Given the description of an element on the screen output the (x, y) to click on. 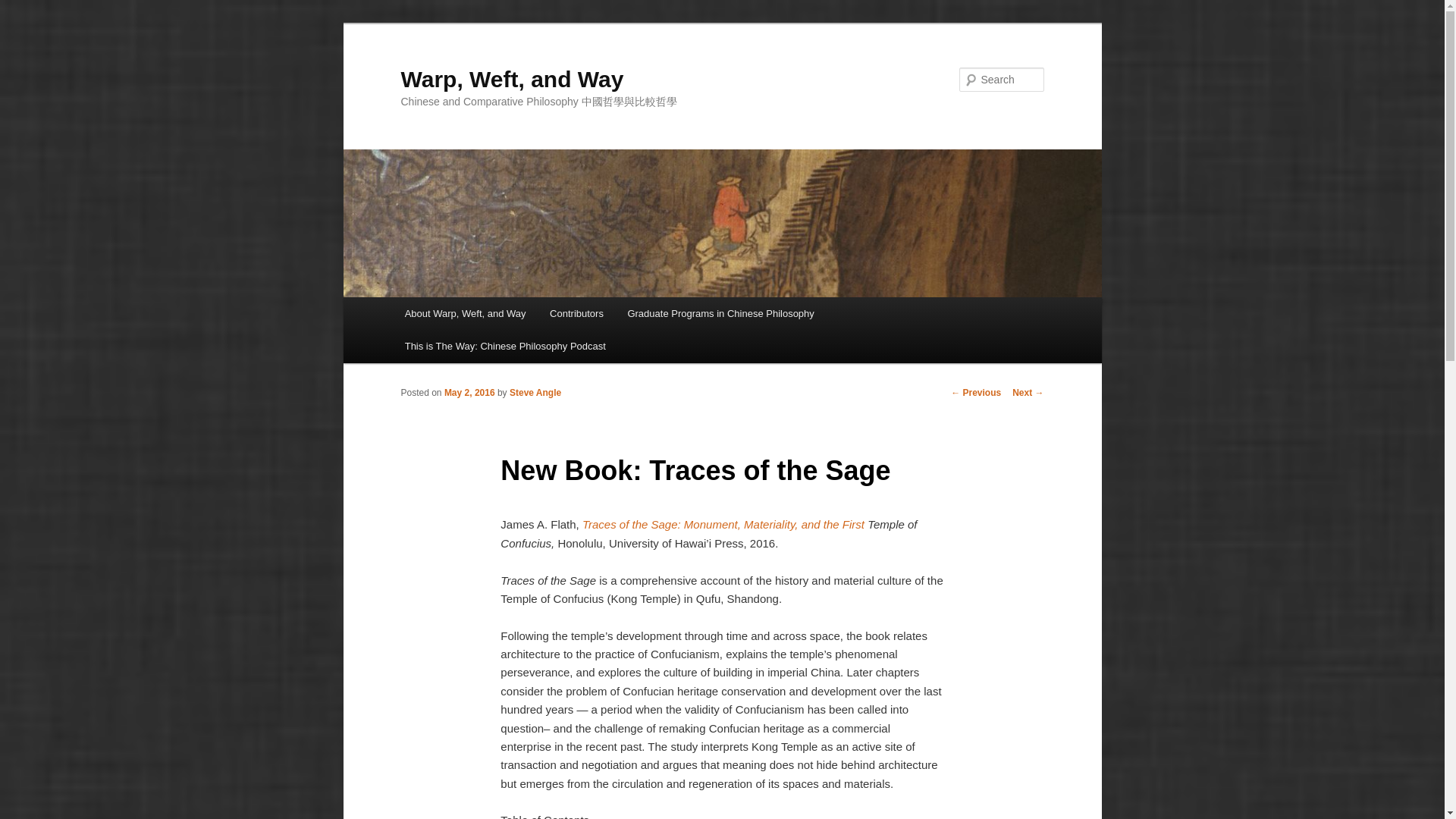
Steve Angle (534, 392)
Traces of the Sage: Monument, Materiality, and the First (724, 523)
May 2, 2016 (469, 392)
Contributors (575, 313)
10:01 am (469, 392)
Graduate Programs in Chinese Philosophy (721, 313)
Warp, Weft, and Way (511, 78)
Search (24, 8)
This is The Way: Chinese Philosophy Podcast (505, 346)
